Given the description of an element on the screen output the (x, y) to click on. 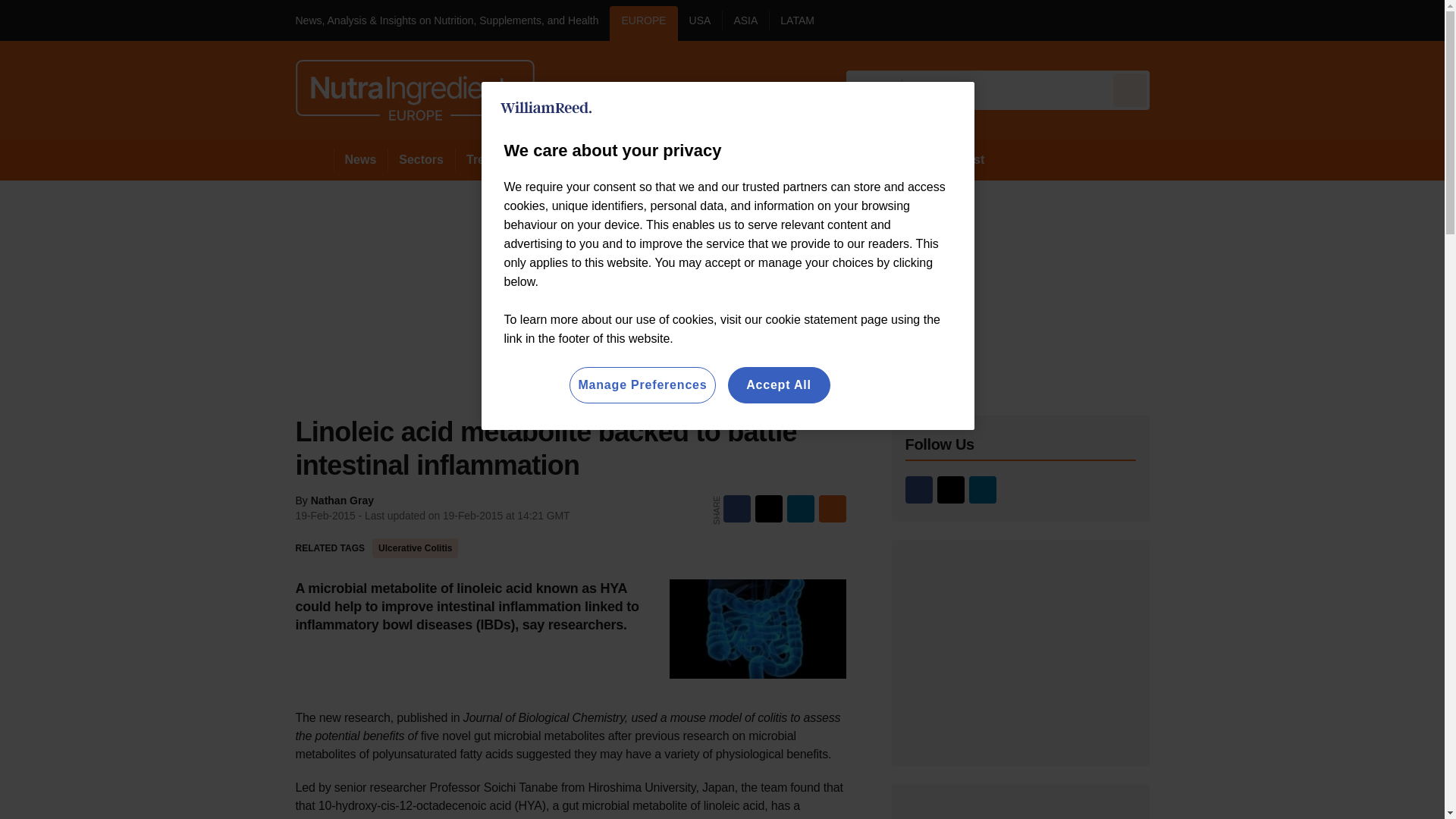
3rd party ad content (1020, 810)
ASIA (745, 22)
Sign out (1174, 20)
EUROPE (643, 22)
3rd party ad content (1020, 652)
William Reed (545, 107)
Sectors (420, 159)
USA (700, 22)
Register (1231, 20)
LATAM (796, 22)
Home (313, 159)
SUBSCRIBE (1362, 20)
NutraIngredients Europe (414, 89)
Send (1129, 90)
News (360, 159)
